Given the description of an element on the screen output the (x, y) to click on. 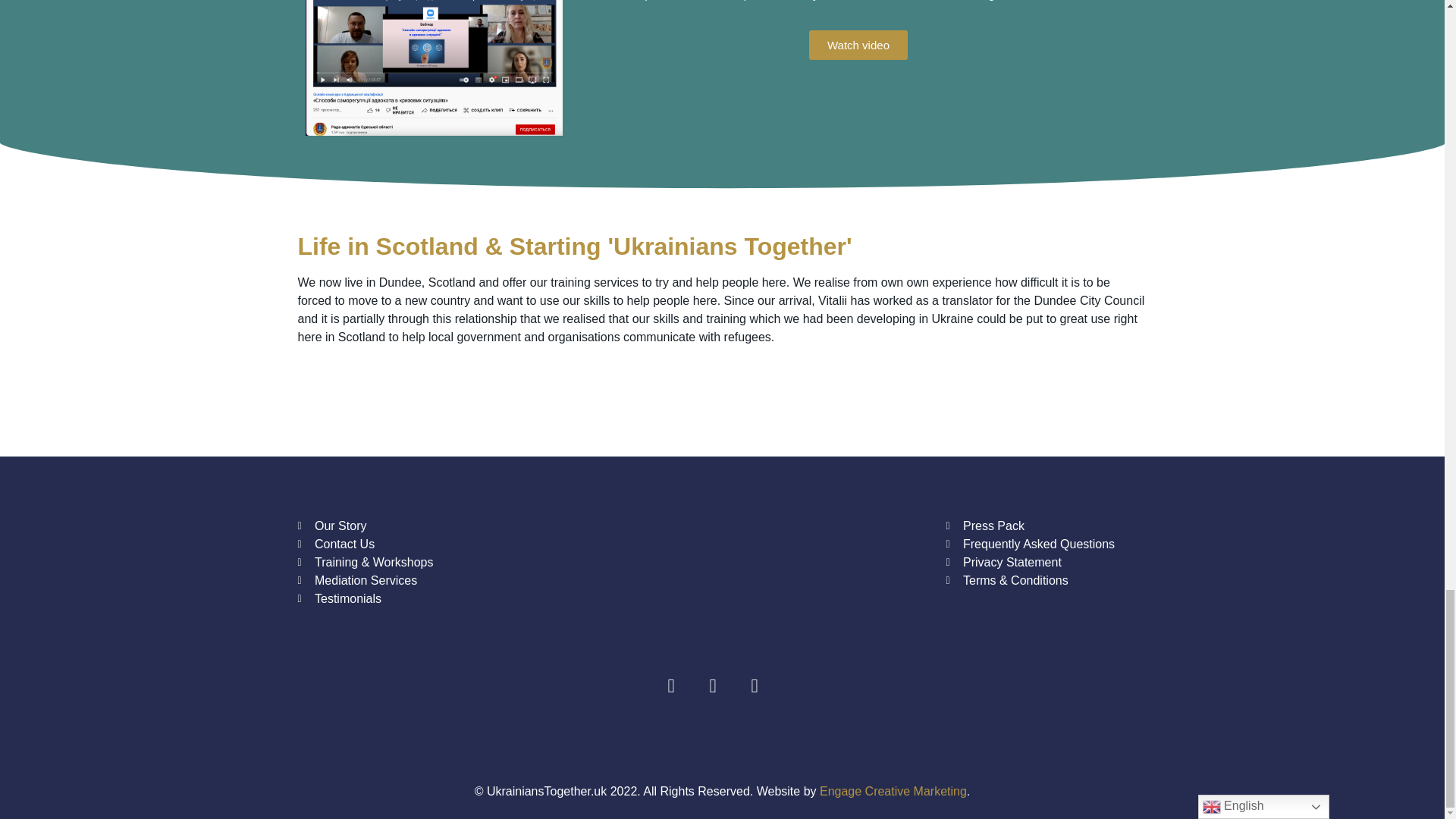
Watch video (858, 44)
Mediation Services (397, 580)
Privacy Statement (1046, 562)
Our Story (397, 525)
Frequently Asked Questions (1046, 544)
Testimonials (397, 598)
Engage Creative Marketing (892, 790)
Press Pack (1046, 525)
Contact Us (397, 544)
